Given the description of an element on the screen output the (x, y) to click on. 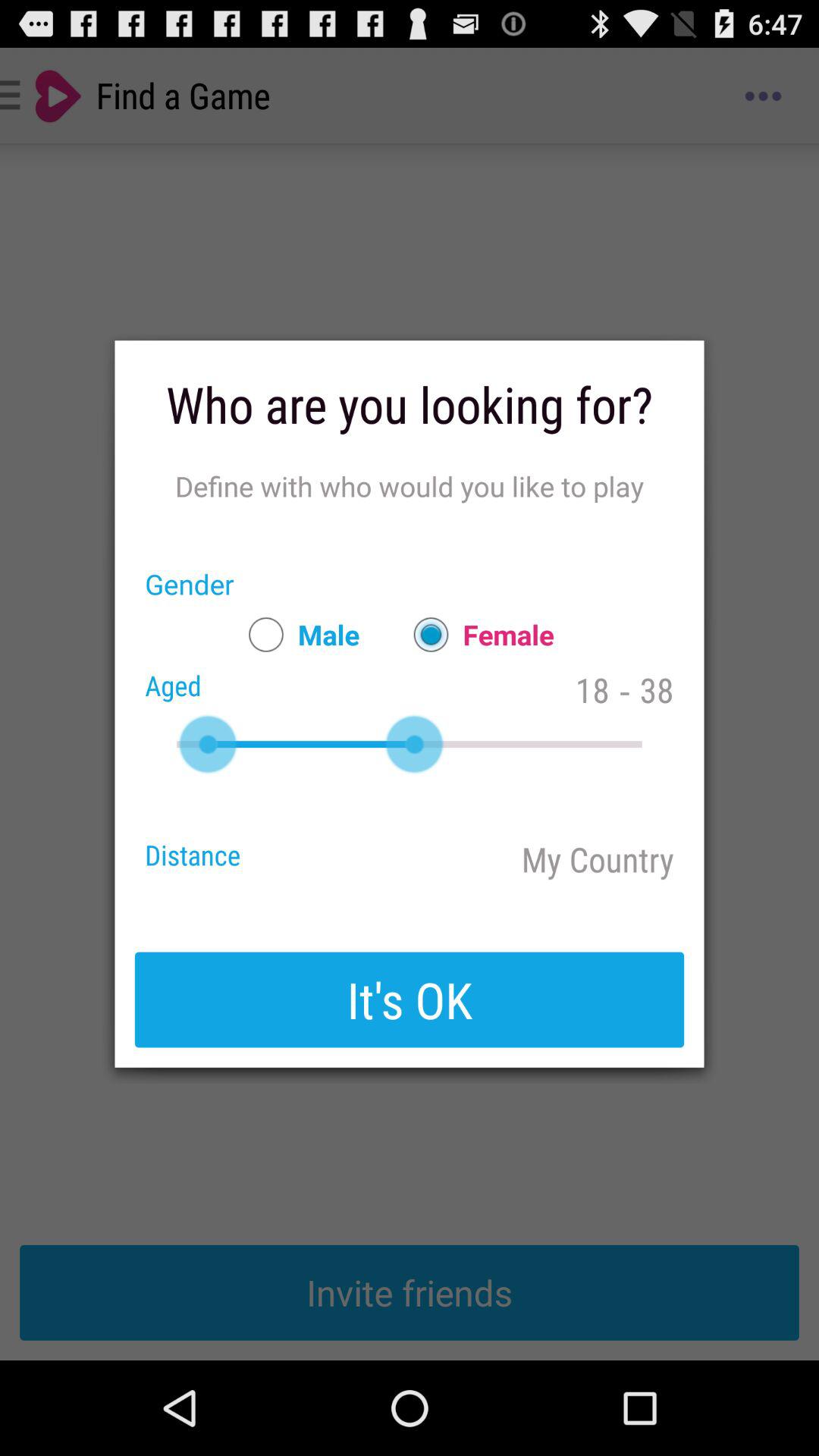
press app below define with who app (476, 634)
